Given the description of an element on the screen output the (x, y) to click on. 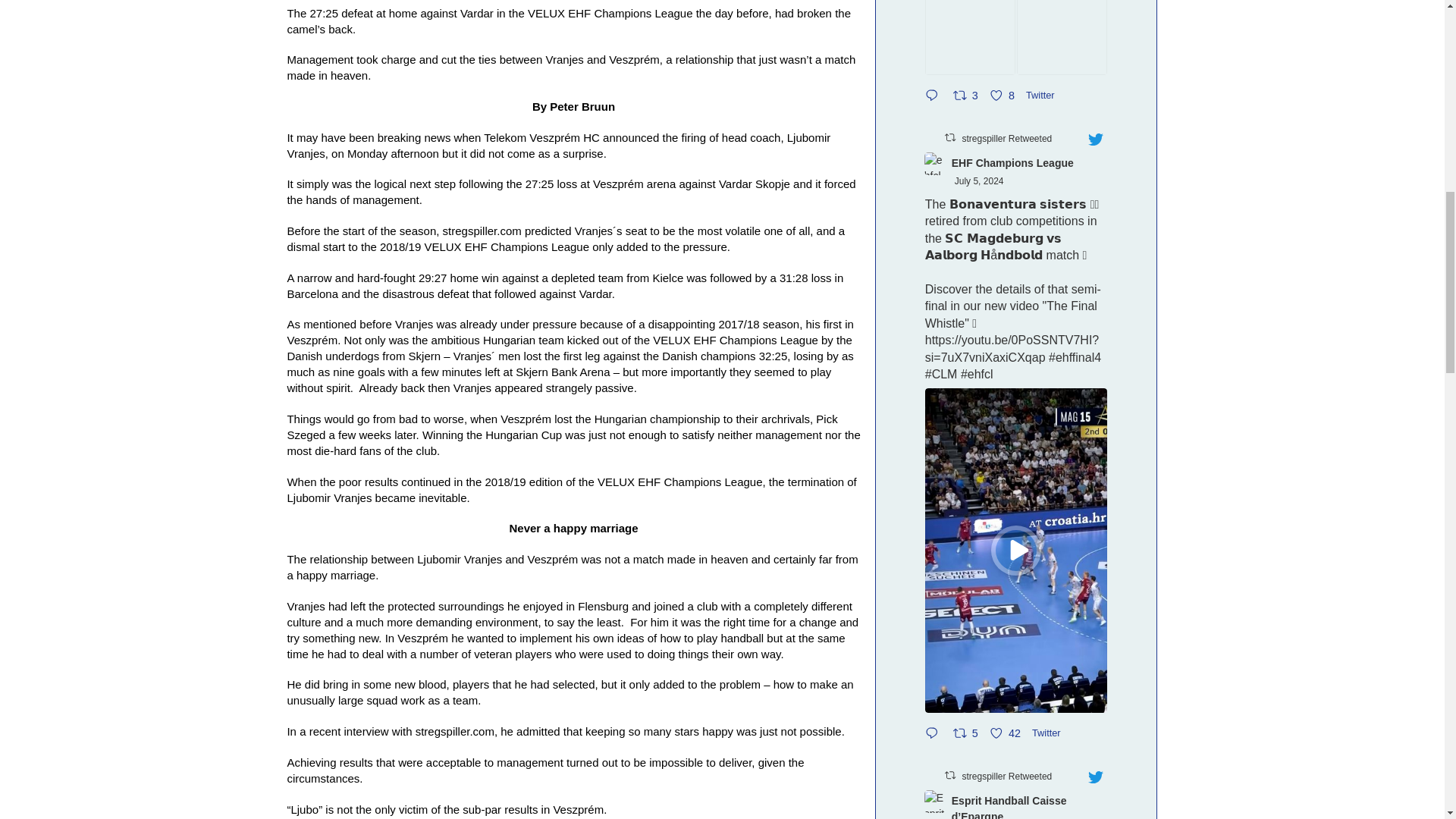
Retweet on Twitter (949, 137)
Reply on Twitter 1809878773749493940 (935, 96)
Twitter 1809878773749493940 (1043, 94)
